Given the description of an element on the screen output the (x, y) to click on. 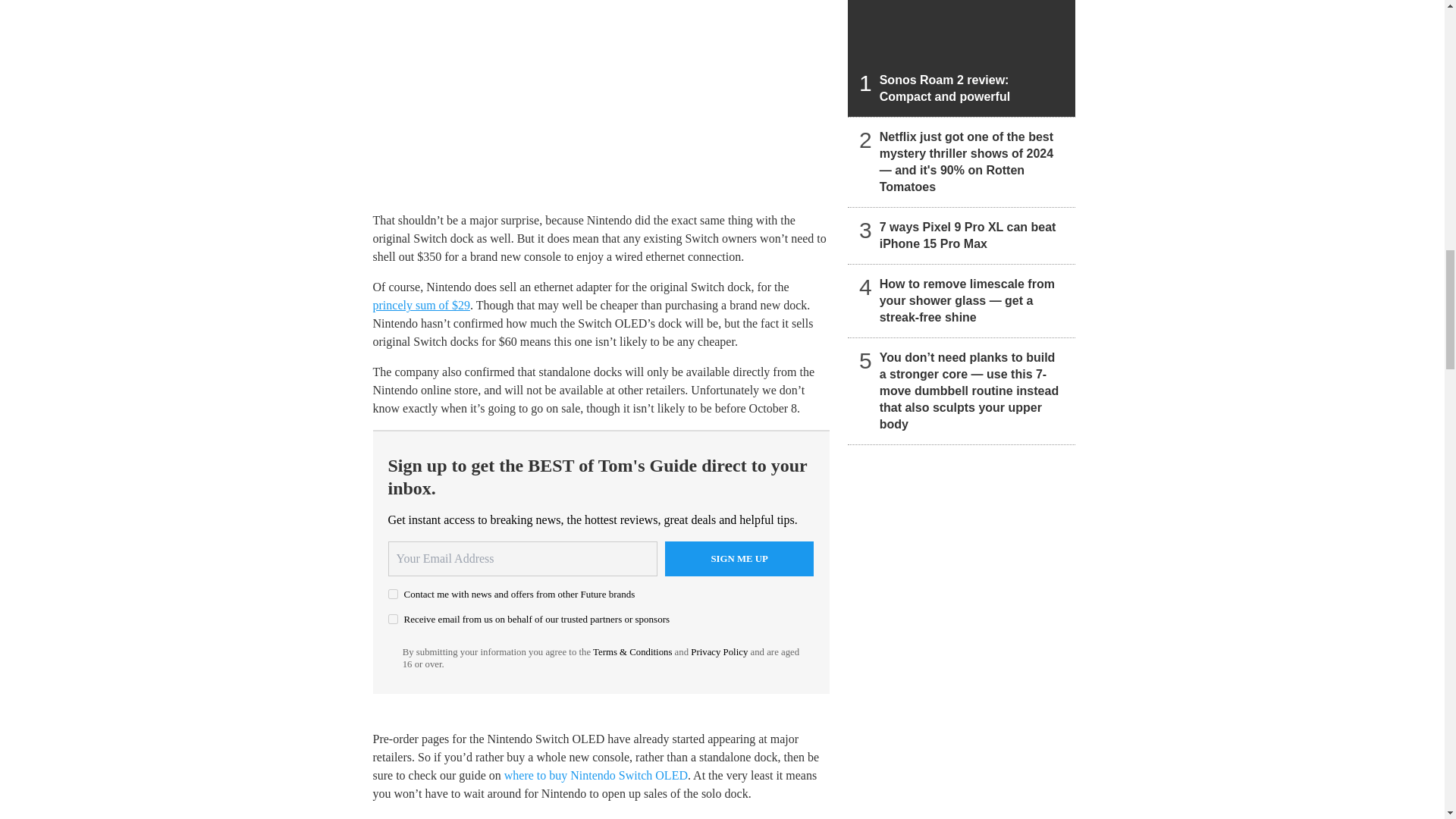
on (392, 619)
Sonos Roam 2 review: Compact and powerful  (961, 58)
on (392, 593)
Sign me up (739, 558)
